Given the description of an element on the screen output the (x, y) to click on. 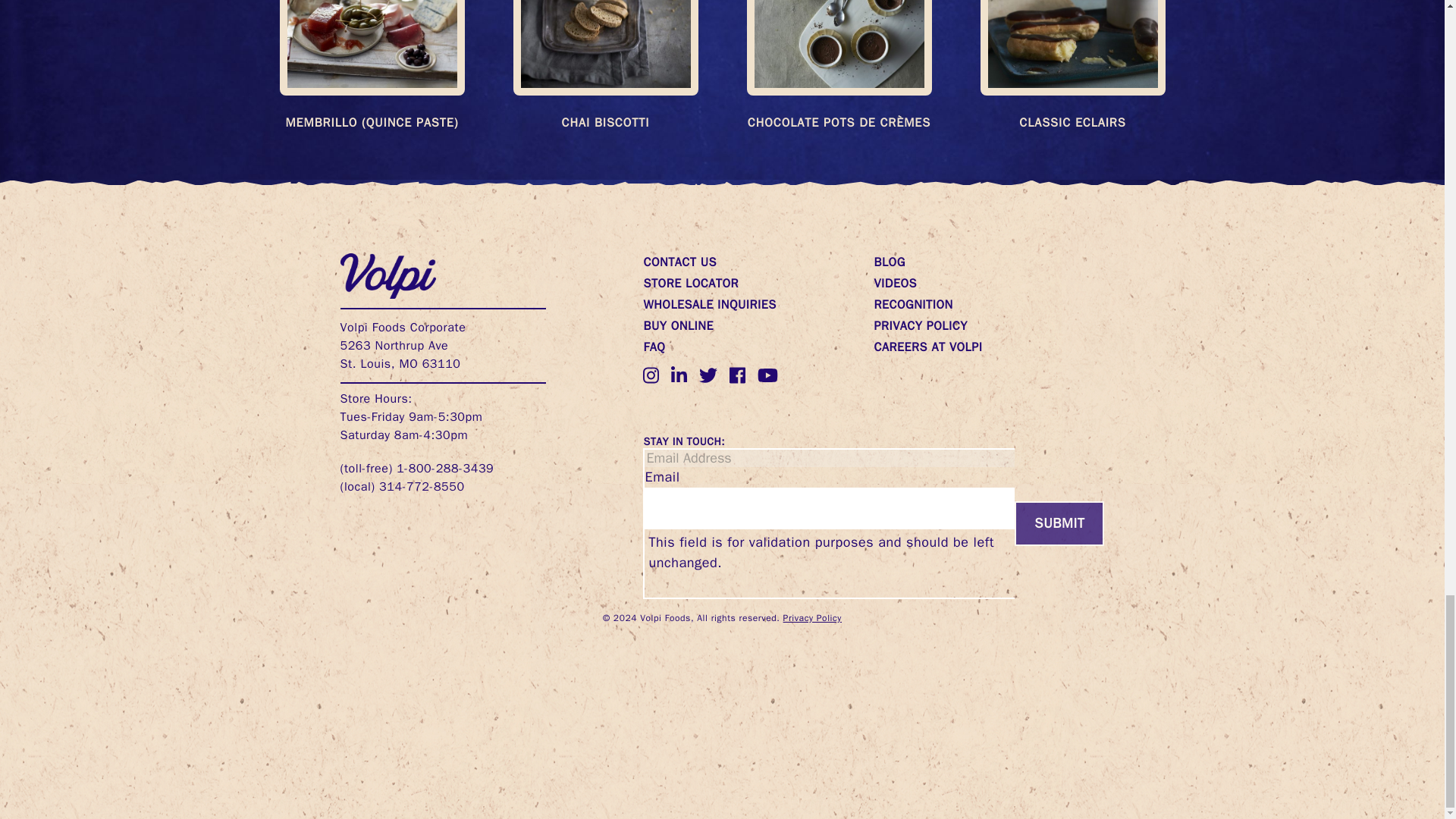
CONTACT US (679, 262)
WHOLESALE INQUIRIES (709, 304)
Contact Us (679, 262)
STORE LOCATOR (690, 283)
Submit (1058, 523)
CLASSIC ECLAIRS (1071, 122)
Store Locator (690, 283)
CHAI BISCOTTI (604, 122)
Wholesale Inquiries (709, 304)
Buy Online (678, 325)
